Given the description of an element on the screen output the (x, y) to click on. 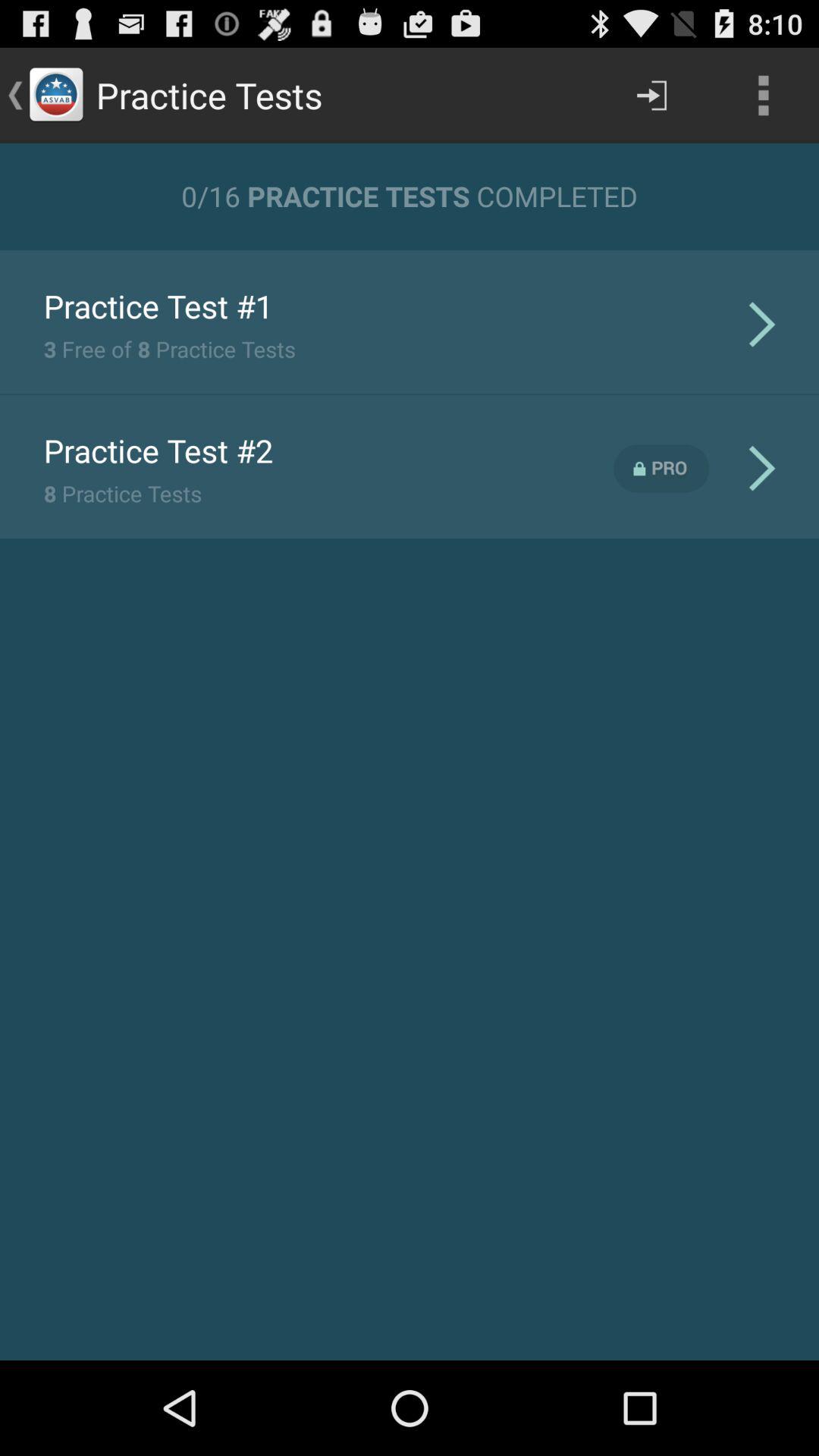
click item below the practice test #1 (169, 348)
